Given the description of an element on the screen output the (x, y) to click on. 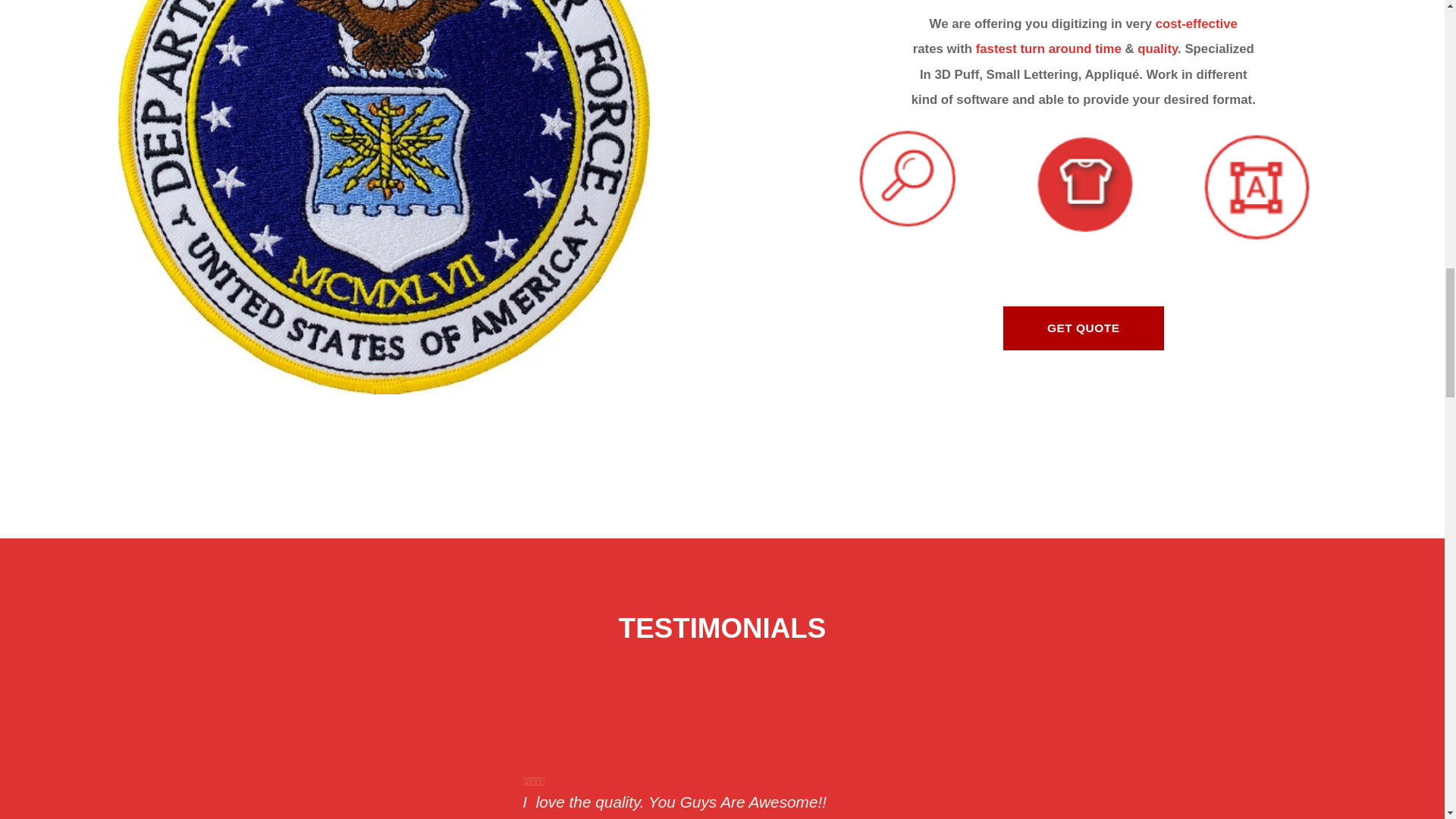
GET QUOTE (1083, 328)
